Given the description of an element on the screen output the (x, y) to click on. 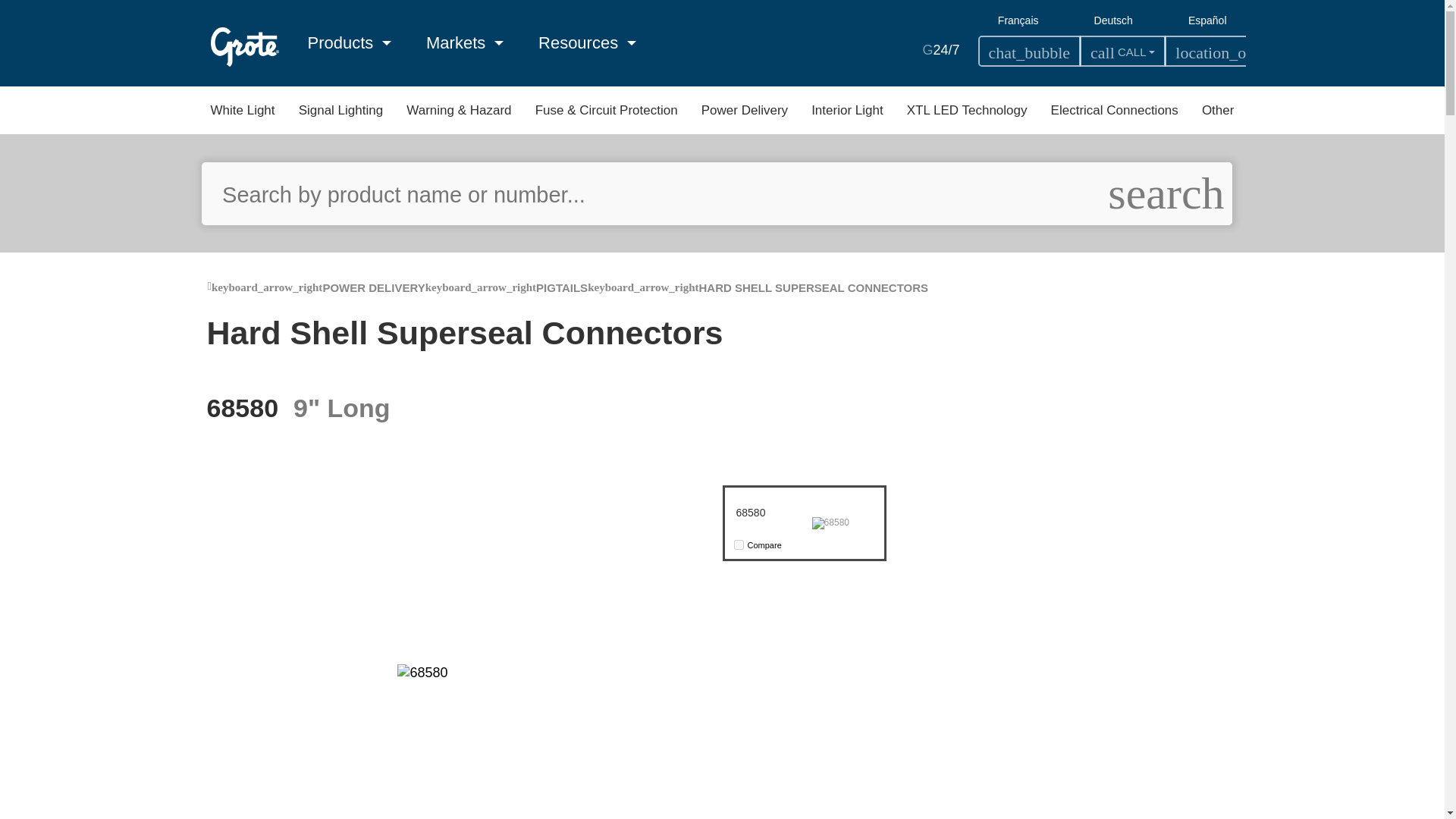
Interior Light (846, 110)
410 (738, 544)
White Light (243, 110)
XTL LED Technology (967, 110)
Deutsch (1113, 20)
Signal Lighting (341, 110)
Products (349, 42)
call CALL (1123, 51)
Electrical Connections (1114, 110)
Markets (464, 42)
